Given the description of an element on the screen output the (x, y) to click on. 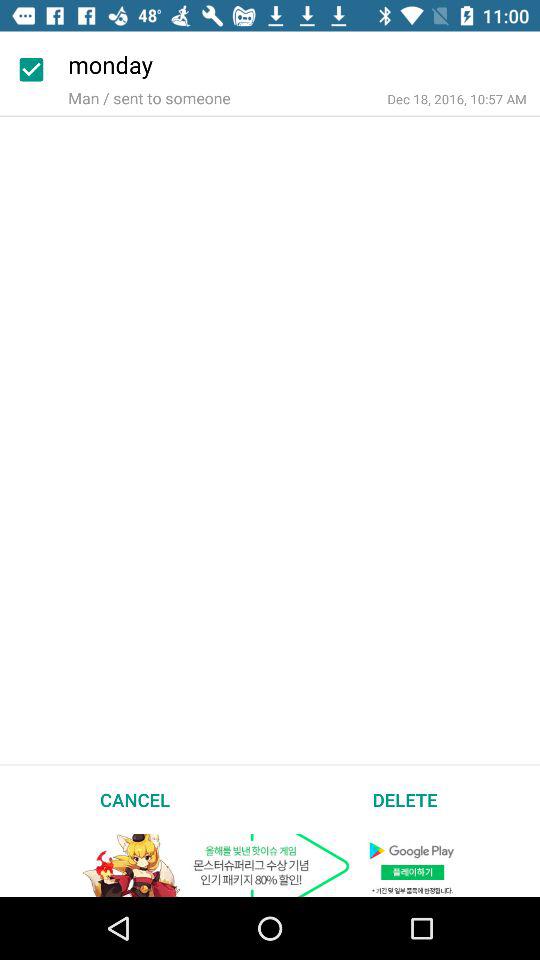
launch the icon next to man sent to (456, 98)
